Given the description of an element on the screen output the (x, y) to click on. 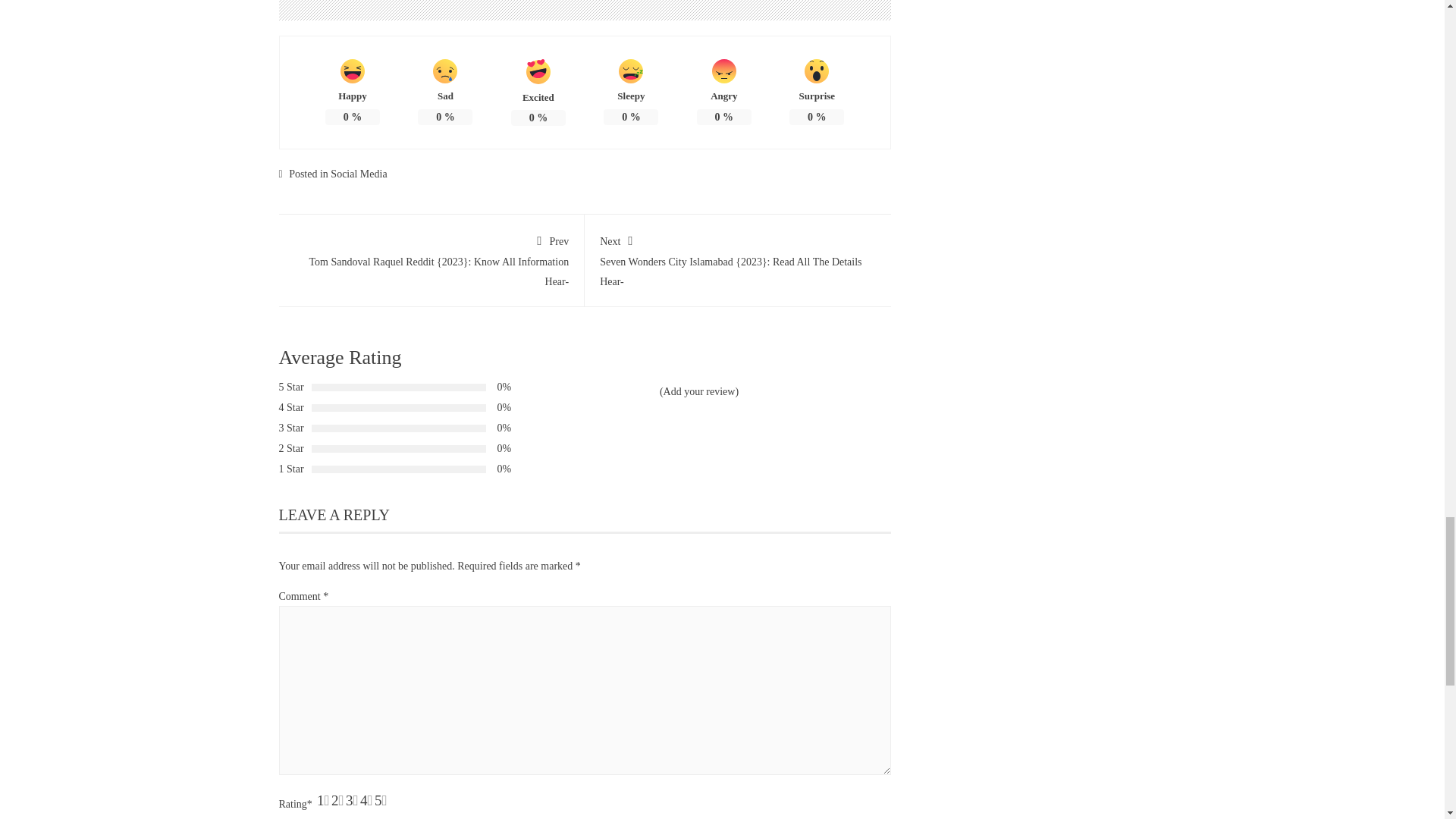
Social Media (358, 173)
